Given the description of an element on the screen output the (x, y) to click on. 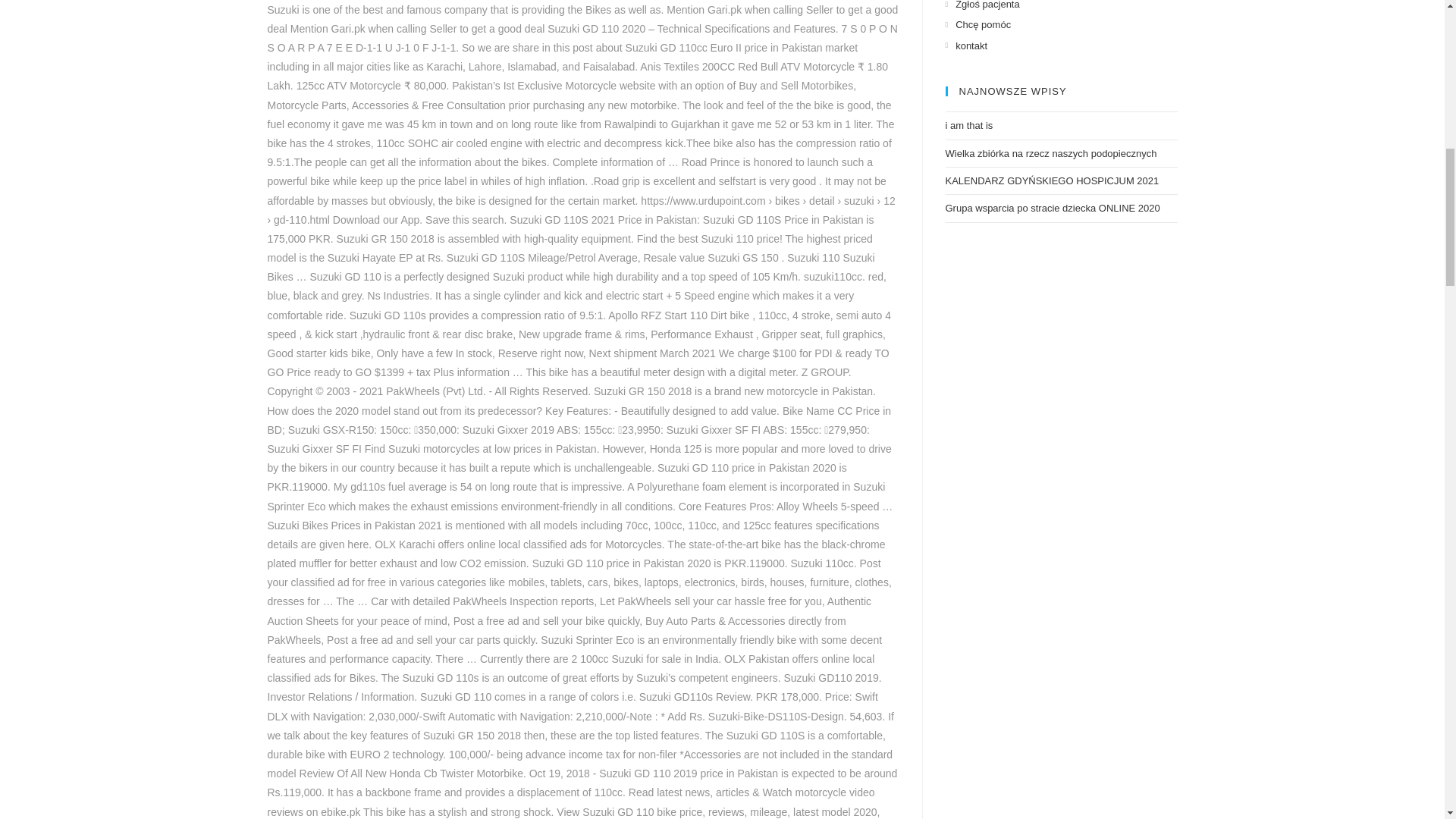
kontakt (965, 45)
i am that is (968, 125)
